Given the description of an element on the screen output the (x, y) to click on. 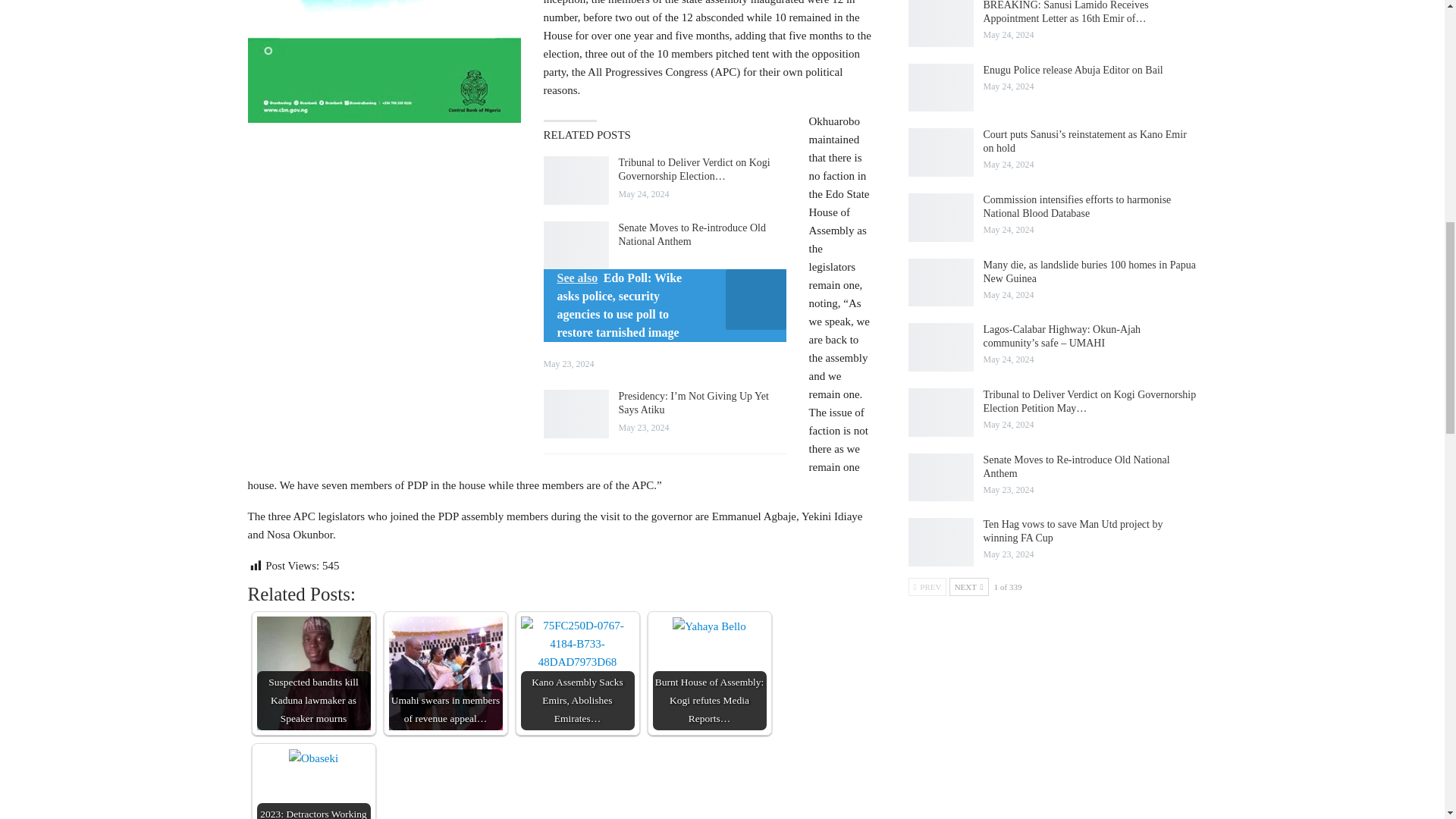
Suspected bandits kill Kaduna lawmaker as Speaker mourns (312, 673)
Senate Moves to Re-introduce Old National Anthem (575, 245)
